Given the description of an element on the screen output the (x, y) to click on. 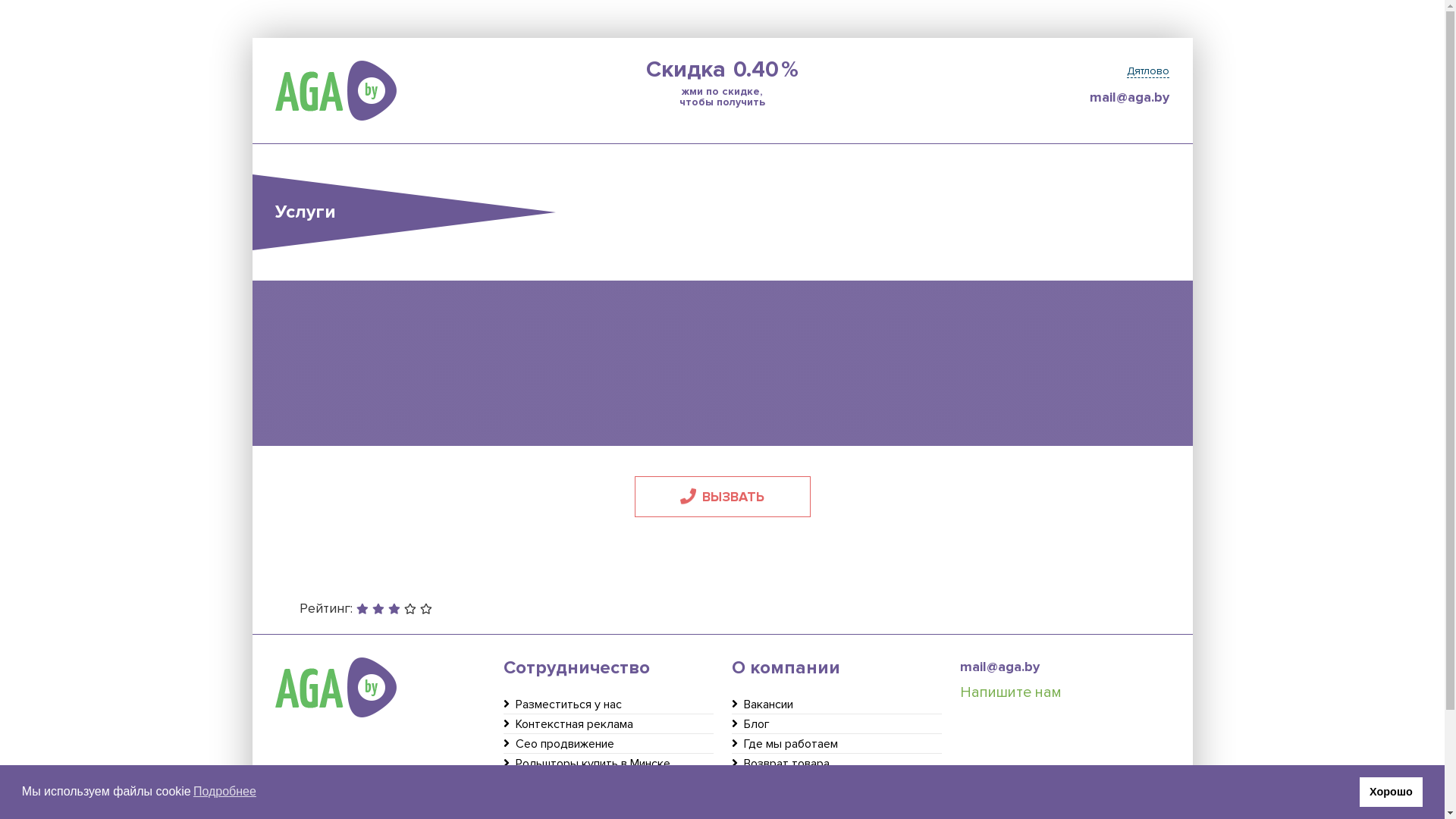
mail@aga.by Element type: text (1026, 96)
mail@aga.by Element type: text (1065, 666)
